Given the description of an element on the screen output the (x, y) to click on. 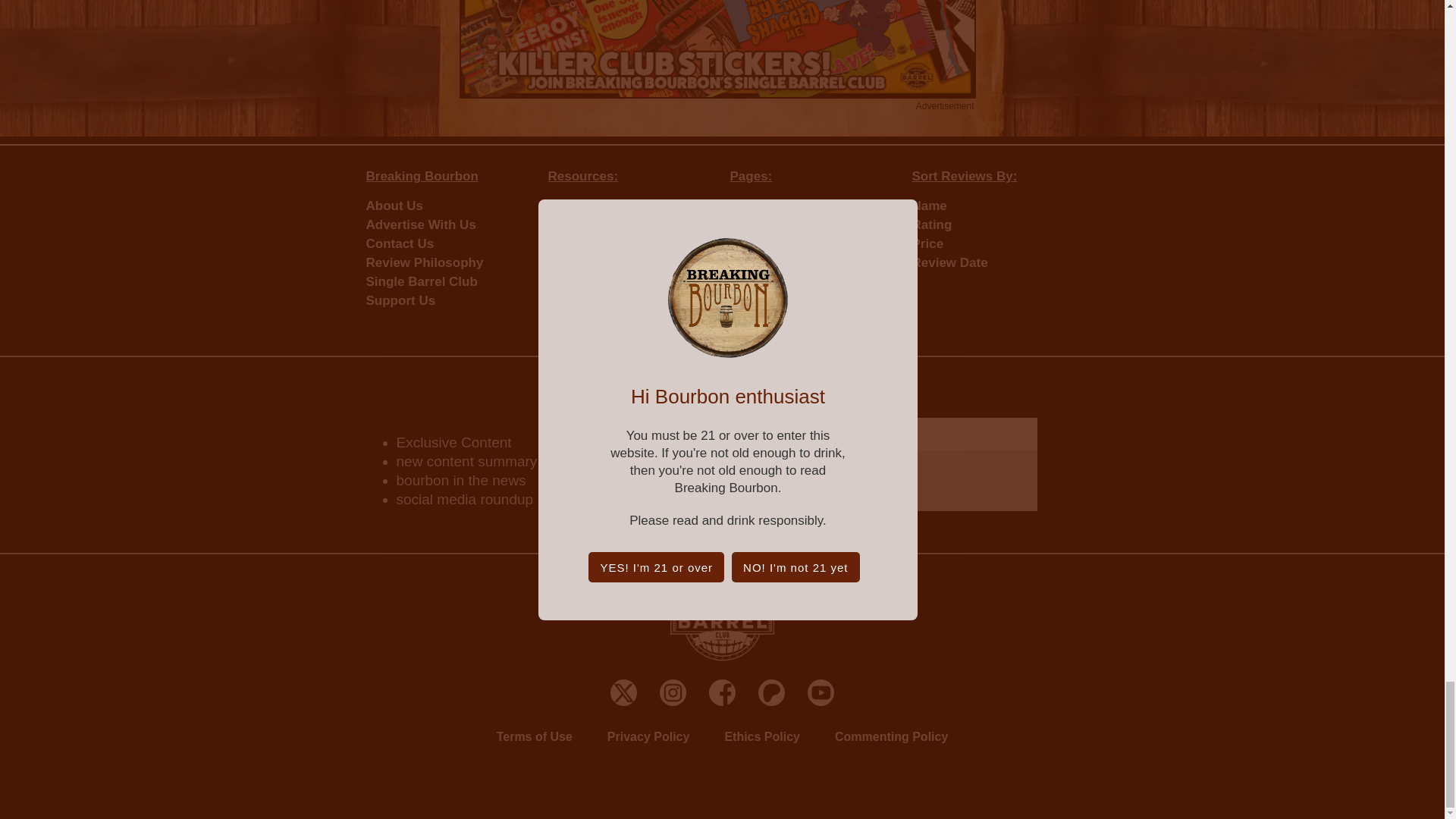
Newsletter Signup (903, 464)
